Given the description of an element on the screen output the (x, y) to click on. 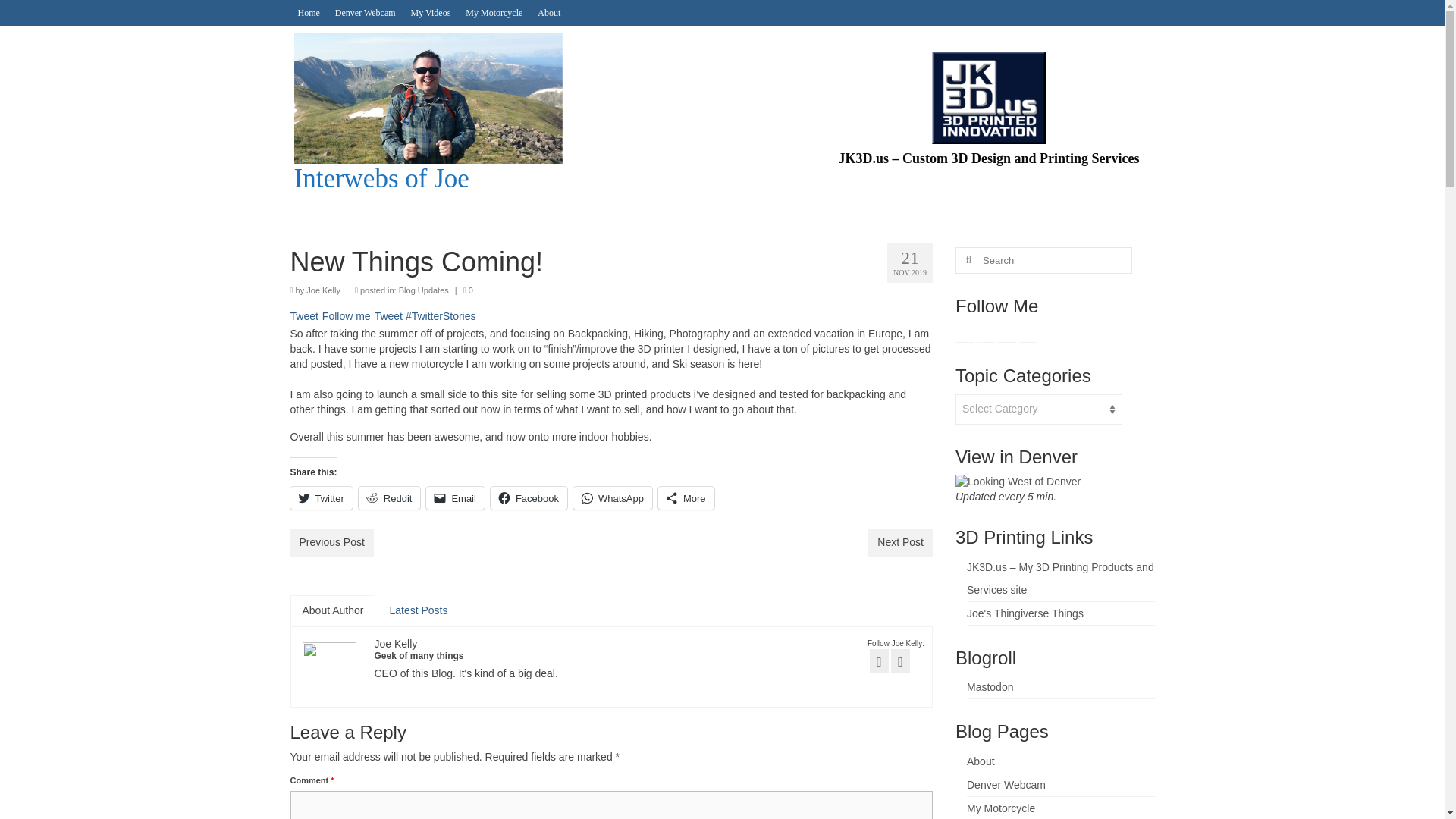
Click to share on WhatsApp (612, 497)
Email (455, 497)
My Videos (430, 12)
Next Post (900, 542)
About Author (332, 611)
Click to email a link to a friend (455, 497)
Joe Kelly (395, 644)
Click to share on Facebook (528, 497)
Follow me (346, 316)
Home (307, 12)
My Motorcycle (493, 12)
About (548, 12)
Denver Webcam (365, 12)
WhatsApp (612, 497)
Posts by Joe Kelly (395, 644)
